Given the description of an element on the screen output the (x, y) to click on. 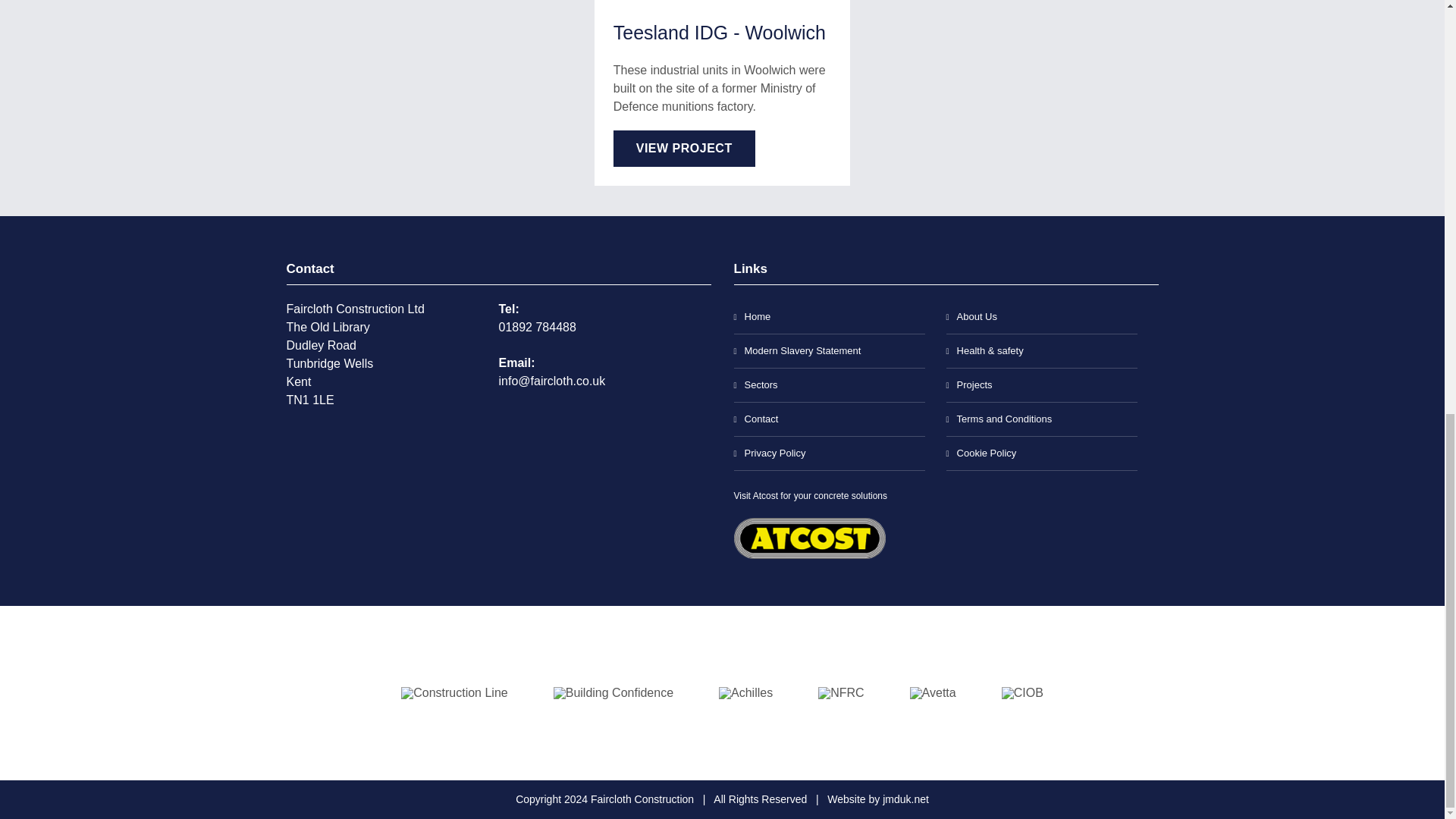
Contact (828, 419)
Sectors (828, 385)
Terms and Conditions (1041, 419)
About Us (1041, 317)
Home (828, 317)
Projects (1041, 385)
01892 784488 (537, 327)
Website by jmduk.net (877, 799)
Modern Slavery Statement (828, 351)
Privacy Policy (828, 453)
